Given the description of an element on the screen output the (x, y) to click on. 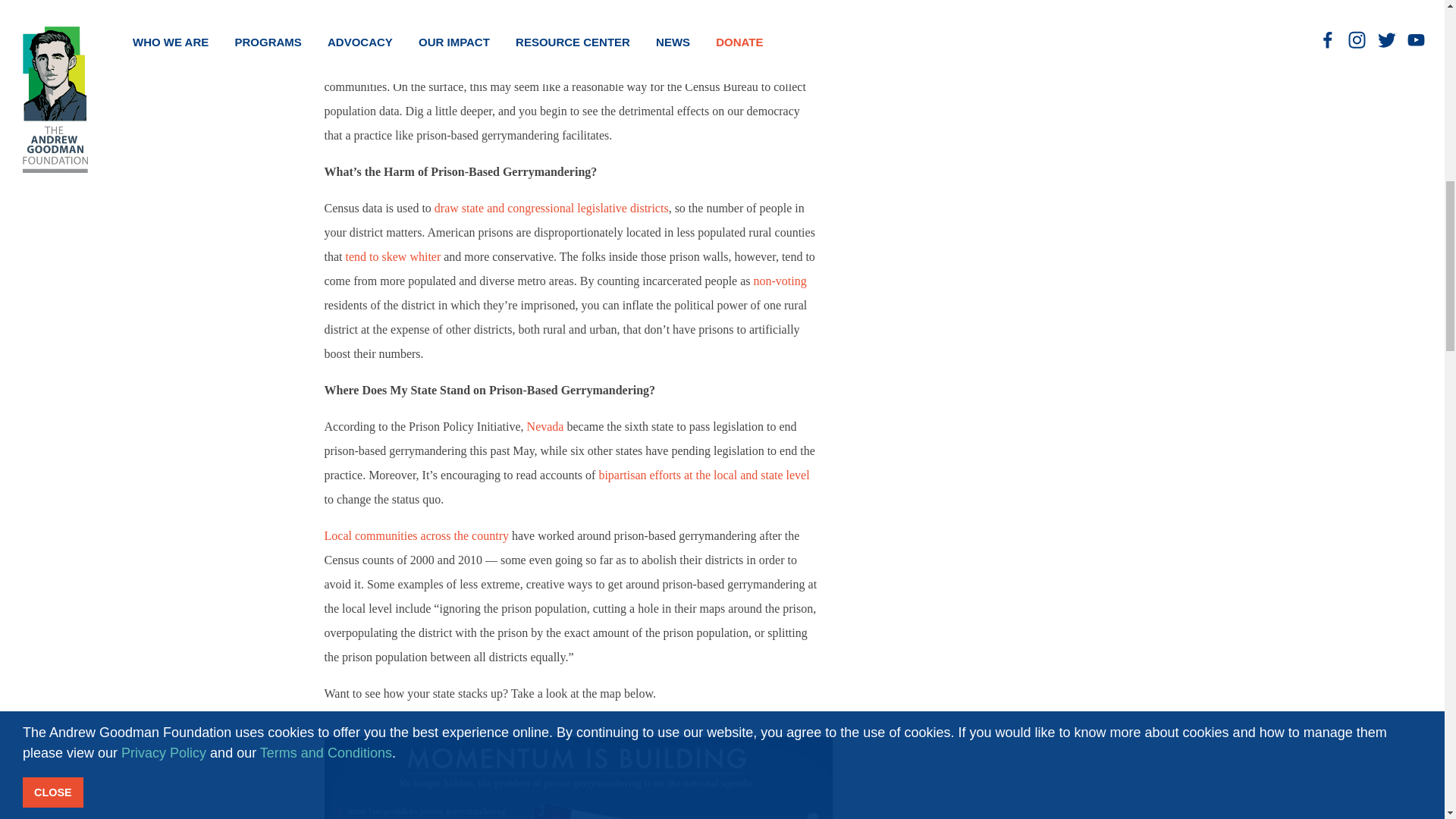
Local communities across the country (416, 535)
bipartisan efforts at the local and state level (703, 474)
tend to skew whiter (393, 256)
Nevada (545, 426)
non-voting (780, 280)
draw state and congressional legislative districts (550, 207)
